Given the description of an element on the screen output the (x, y) to click on. 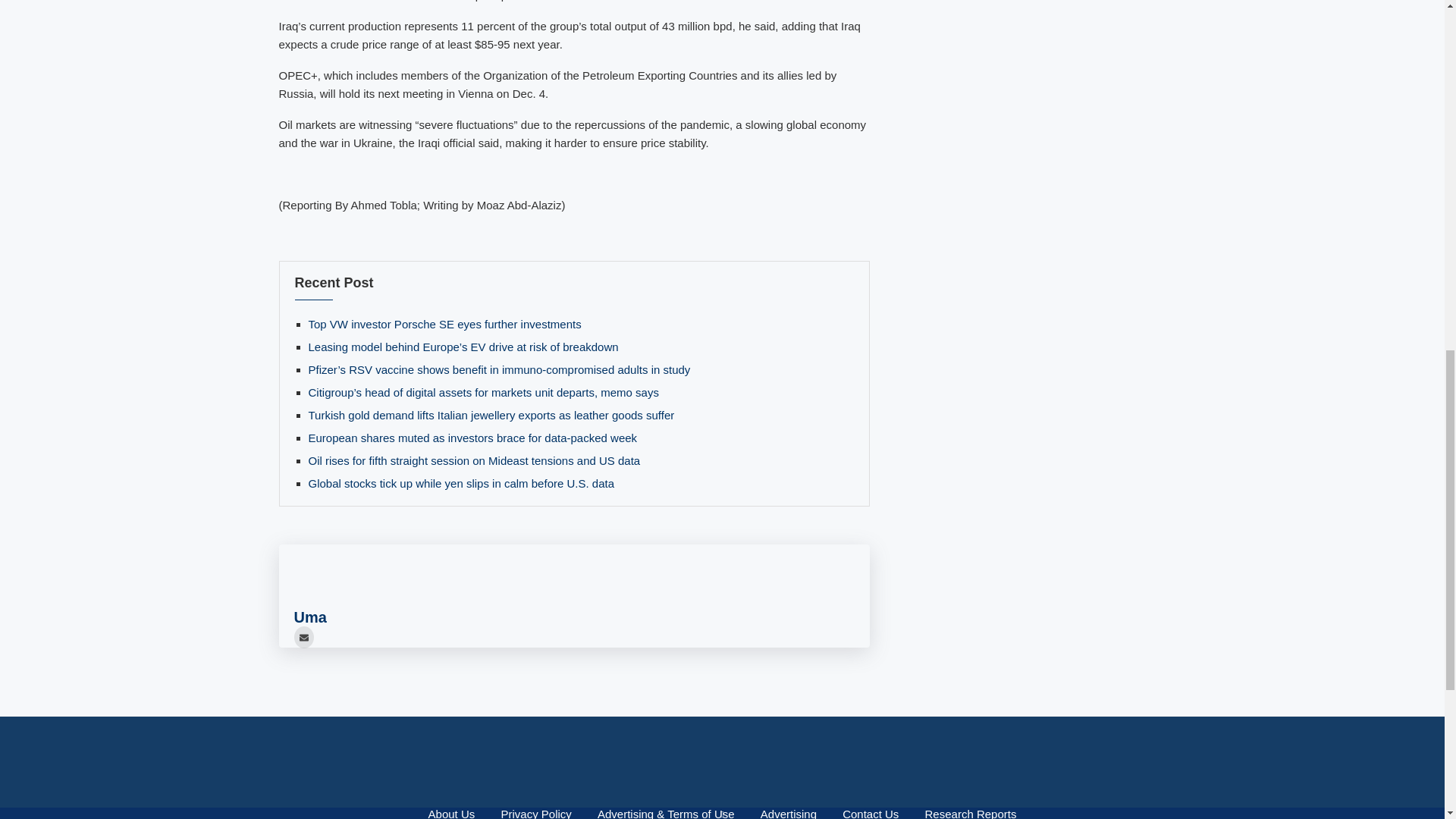
User email (304, 637)
Uma (310, 617)
Top VW investor Porsche SE eyes further investments (443, 323)
